Given the description of an element on the screen output the (x, y) to click on. 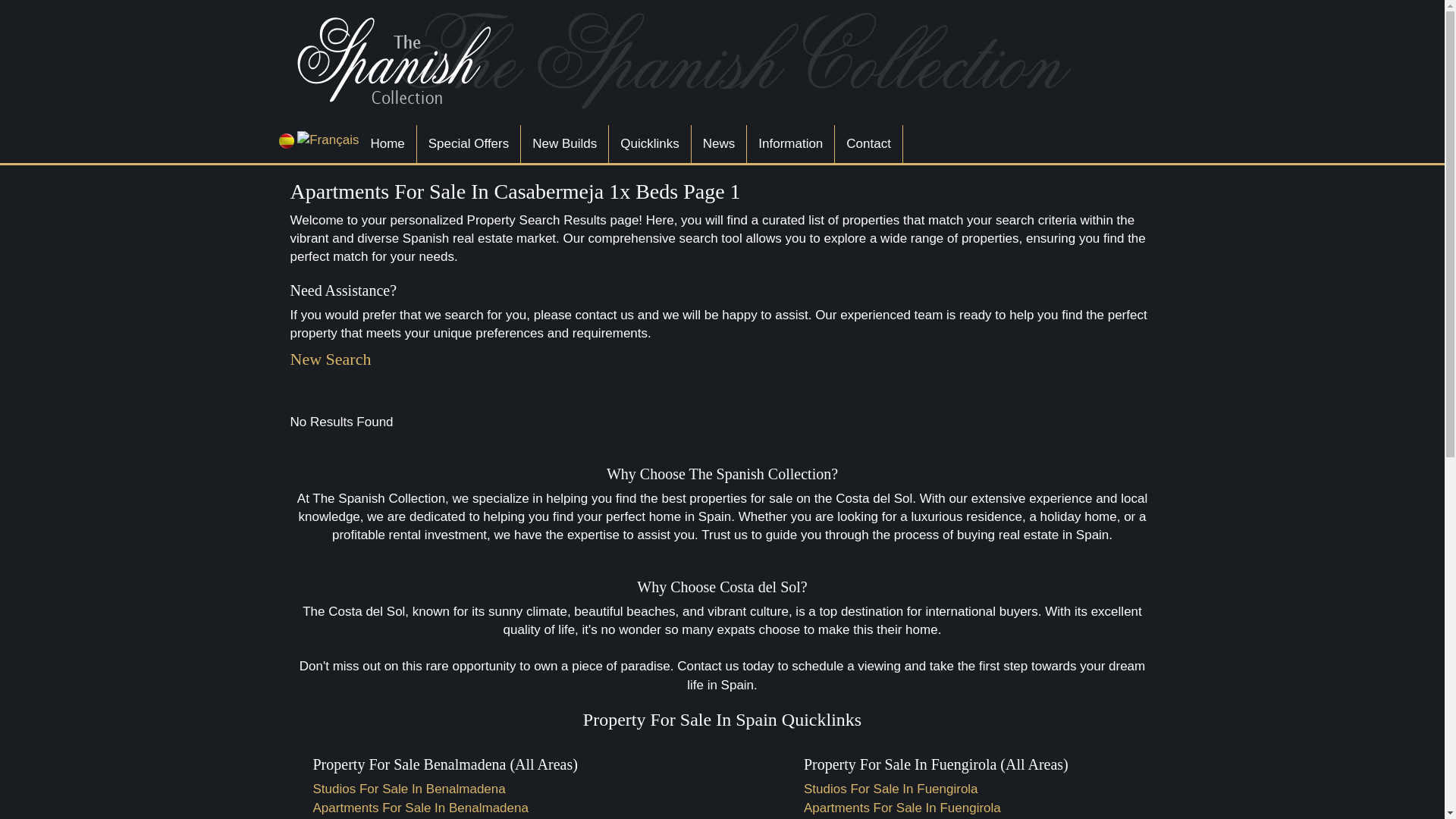
Home (386, 143)
Quicklinks (649, 143)
Special Offer Properties For Sale In Benalmadena (467, 143)
Special Offers (467, 143)
News (718, 143)
Spanish Properties (687, 60)
New Builds (564, 143)
